Given the description of an element on the screen output the (x, y) to click on. 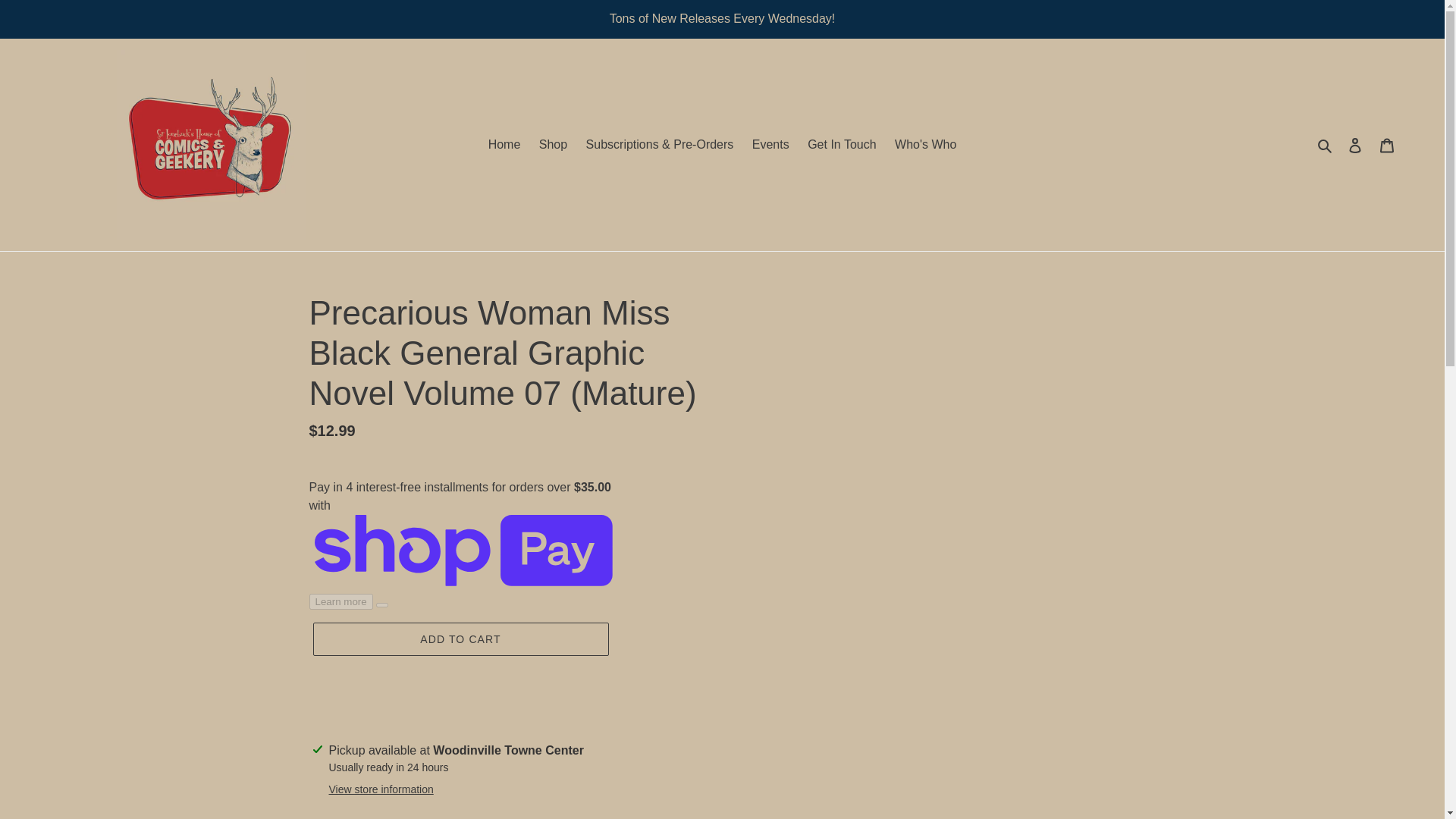
Log in (1355, 144)
Who's Who (924, 144)
Events (770, 144)
Get In Touch (841, 144)
View store information (381, 789)
ADD TO CART (460, 639)
Search (1326, 144)
Cart (1387, 144)
Home (504, 144)
Shop (553, 144)
